Given the description of an element on the screen output the (x, y) to click on. 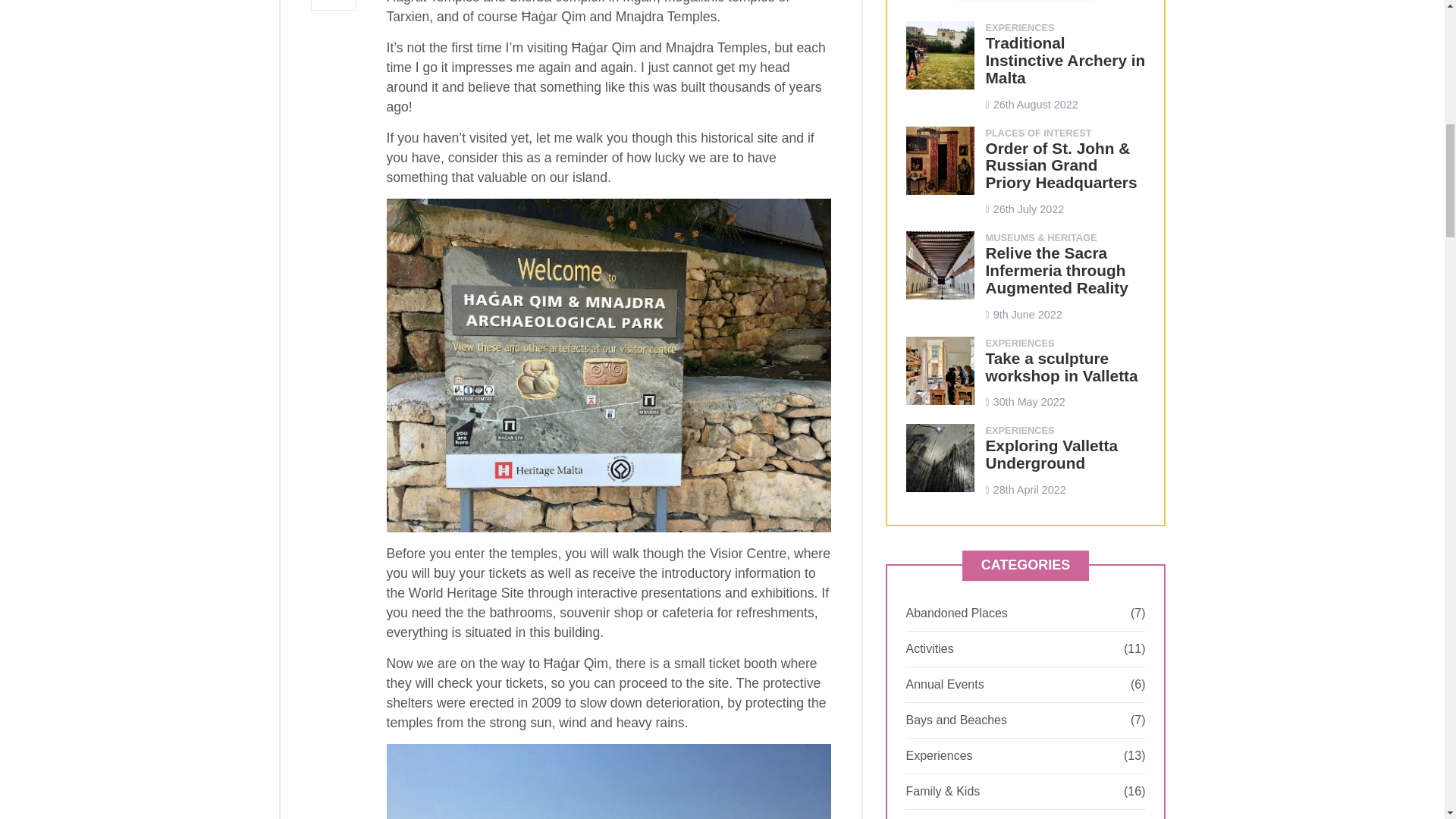
Share pinterest (333, 5)
